Given the description of an element on the screen output the (x, y) to click on. 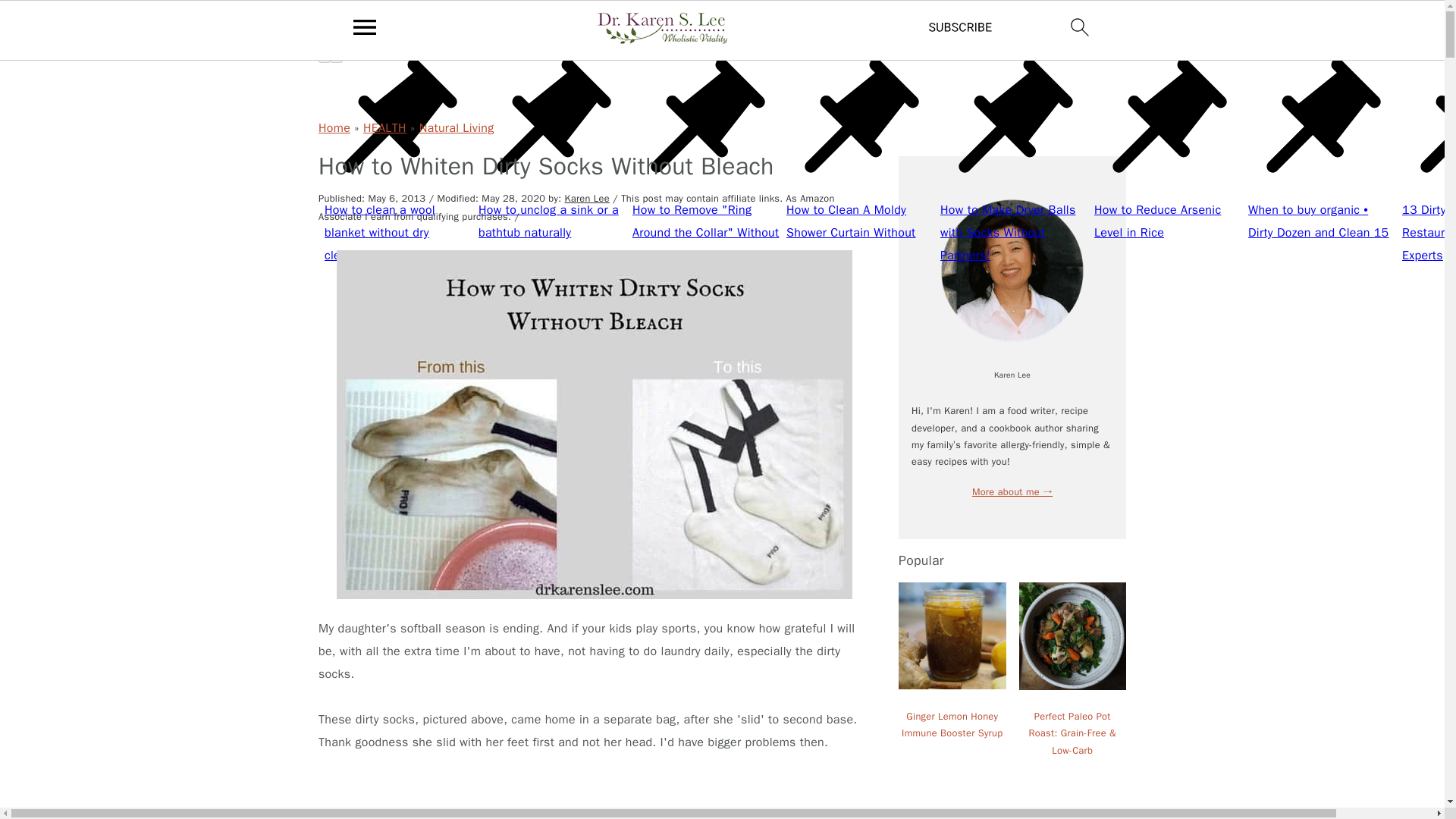
search icon (1080, 26)
menu icon (365, 26)
